Given the description of an element on the screen output the (x, y) to click on. 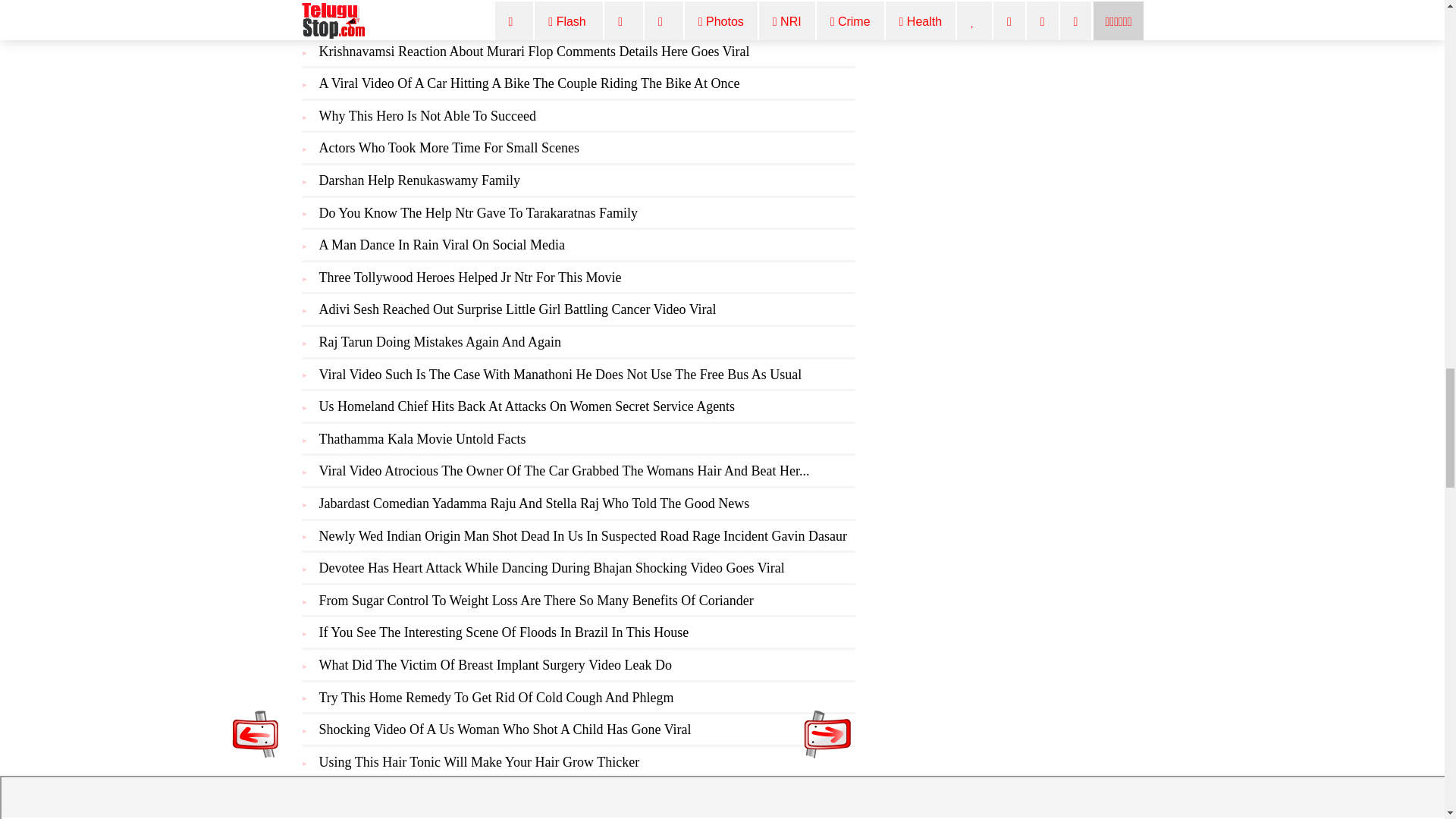
Actors Who Took More Time For Small Scenes (448, 147)
Why This Hero Is Not Able To Succeed (426, 115)
